Given the description of an element on the screen output the (x, y) to click on. 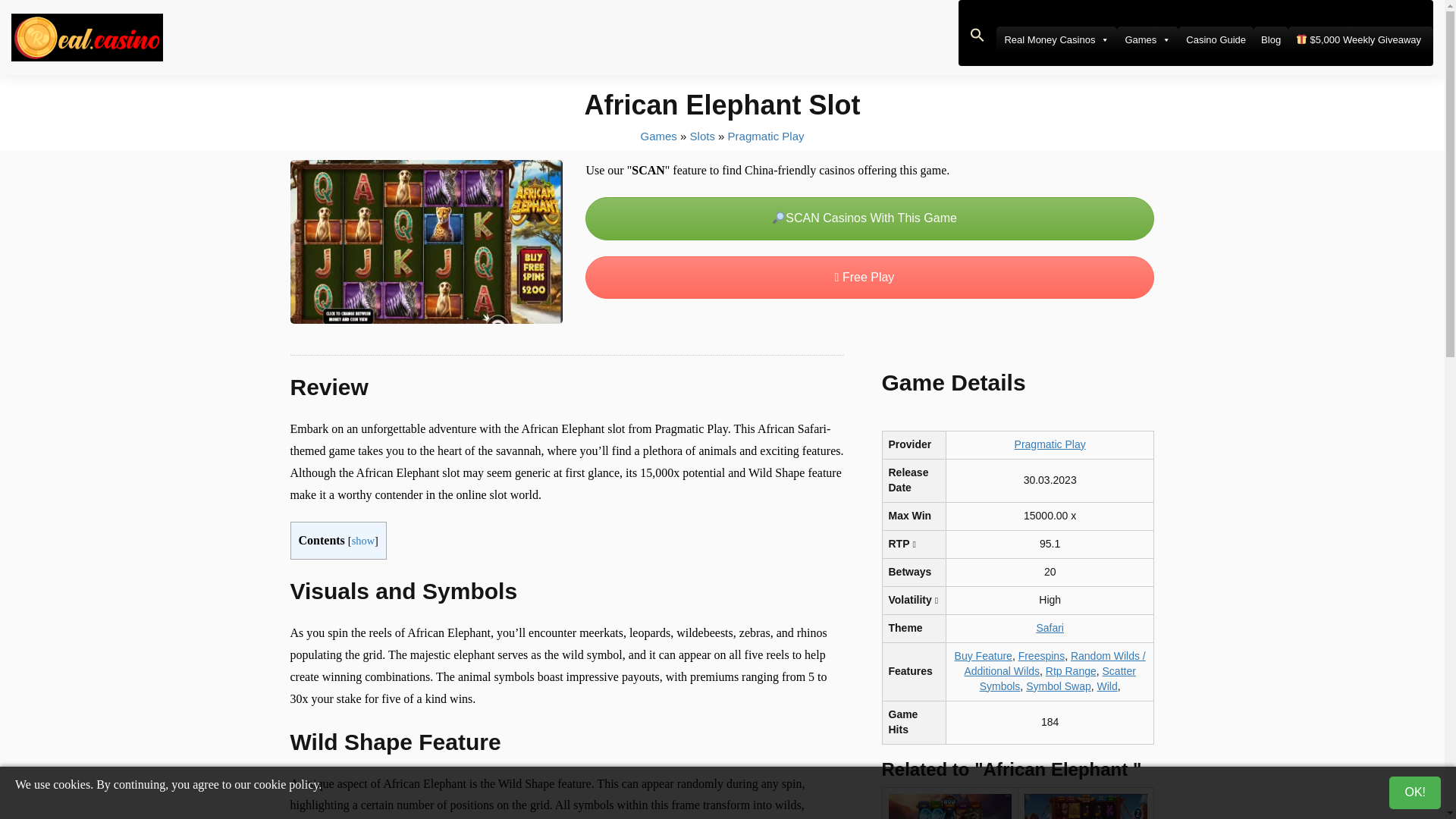
Online Slots (702, 135)
Online Casino Games (658, 135)
Games (1146, 39)
Real Money Casinos (1055, 39)
Pragmatic Play Slots (766, 135)
